Given the description of an element on the screen output the (x, y) to click on. 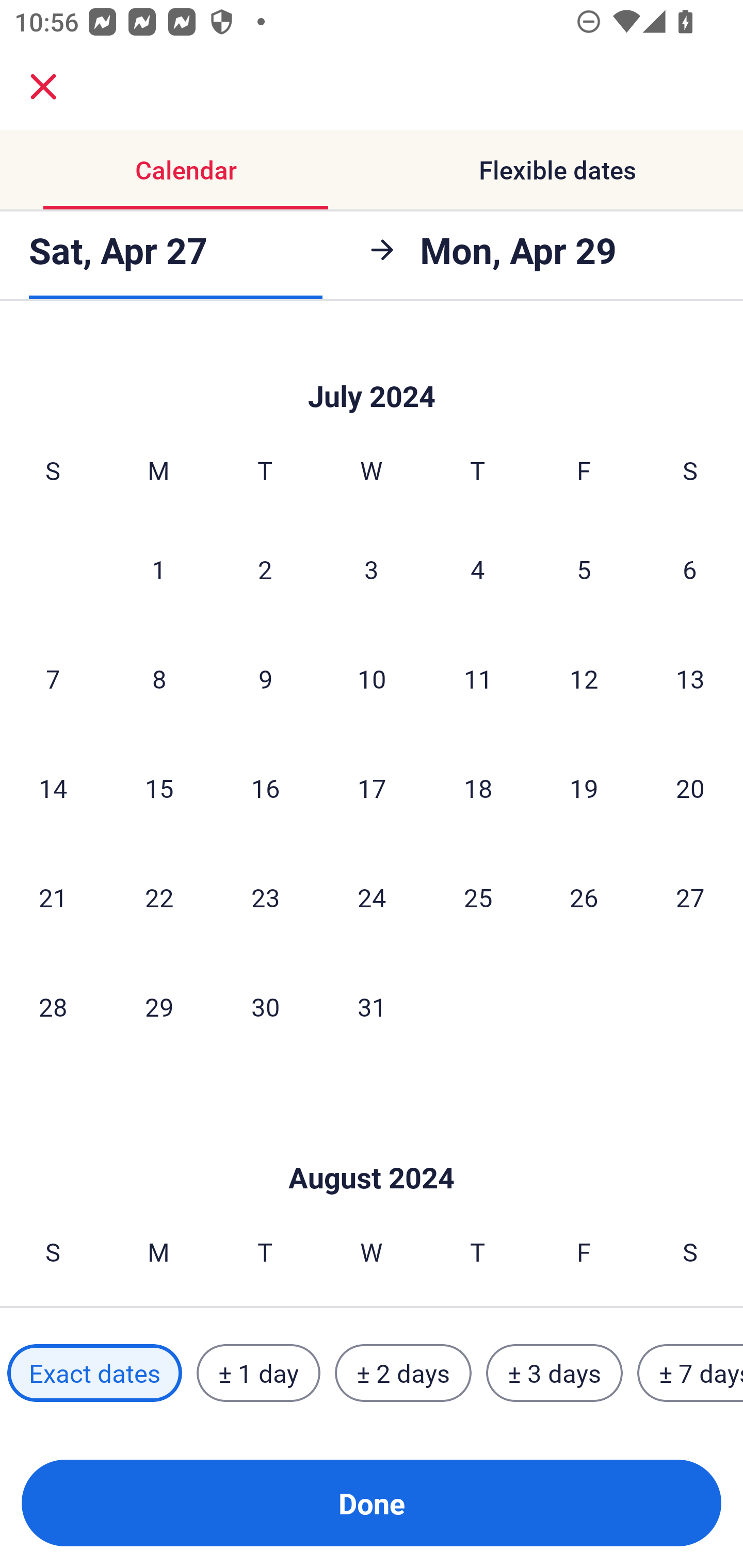
close. (43, 86)
Flexible dates (557, 170)
Skip to Done (371, 369)
1 Monday, July 1, 2024 (158, 568)
2 Tuesday, July 2, 2024 (264, 568)
3 Wednesday, July 3, 2024 (371, 568)
4 Thursday, July 4, 2024 (477, 568)
5 Friday, July 5, 2024 (583, 568)
6 Saturday, July 6, 2024 (689, 568)
7 Sunday, July 7, 2024 (53, 677)
8 Monday, July 8, 2024 (159, 677)
9 Tuesday, July 9, 2024 (265, 677)
10 Wednesday, July 10, 2024 (371, 677)
11 Thursday, July 11, 2024 (477, 677)
12 Friday, July 12, 2024 (584, 677)
13 Saturday, July 13, 2024 (690, 677)
14 Sunday, July 14, 2024 (53, 787)
15 Monday, July 15, 2024 (159, 787)
16 Tuesday, July 16, 2024 (265, 787)
17 Wednesday, July 17, 2024 (371, 787)
